Given the description of an element on the screen output the (x, y) to click on. 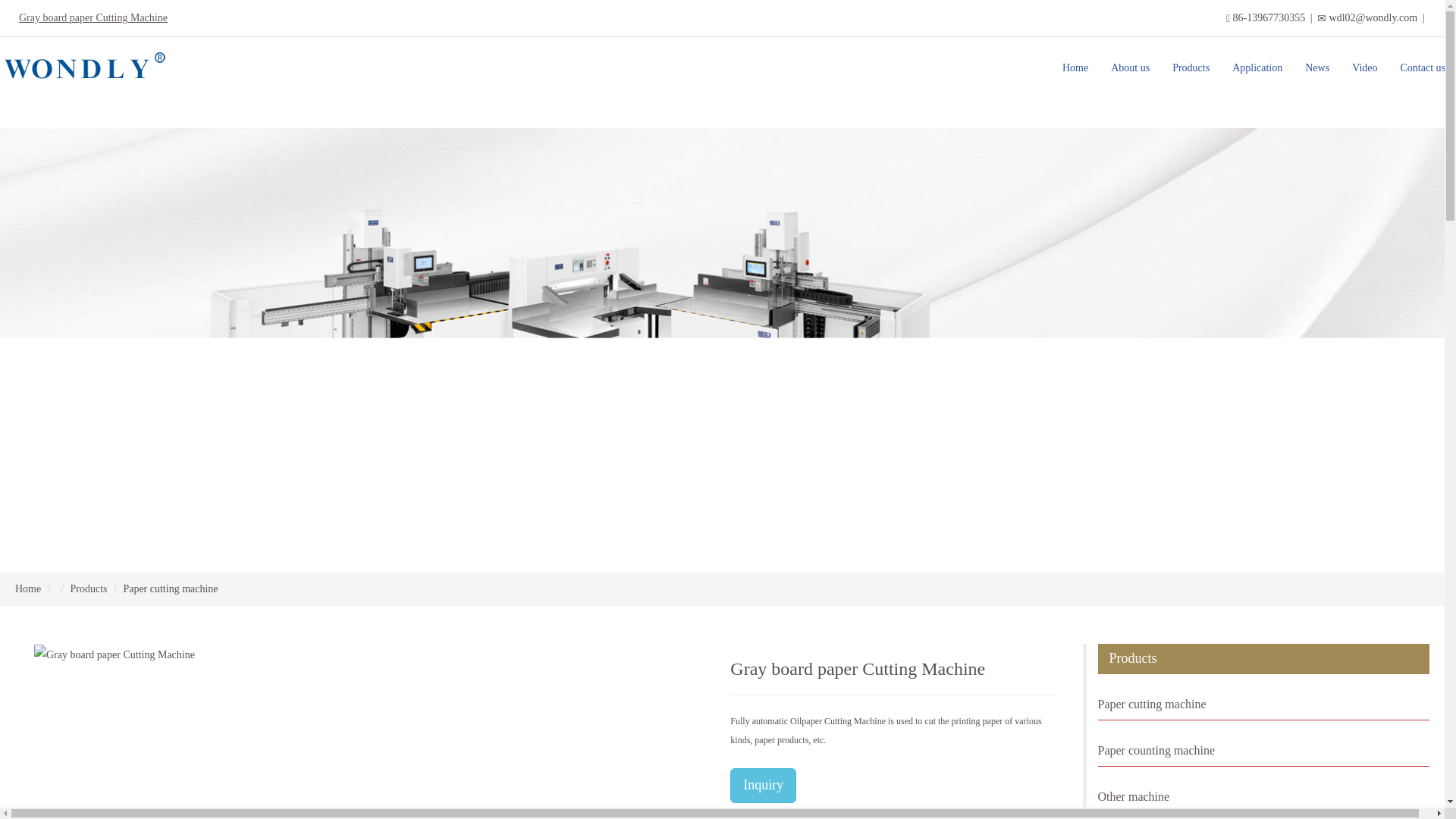
Products (1190, 67)
Application (1257, 67)
Paper cutting machine (1263, 704)
About us (1129, 67)
Contact us (1422, 67)
Home (27, 588)
News (1317, 67)
Video (1364, 67)
Gray board paper Cutting Machine (92, 17)
Products (87, 588)
